Given the description of an element on the screen output the (x, y) to click on. 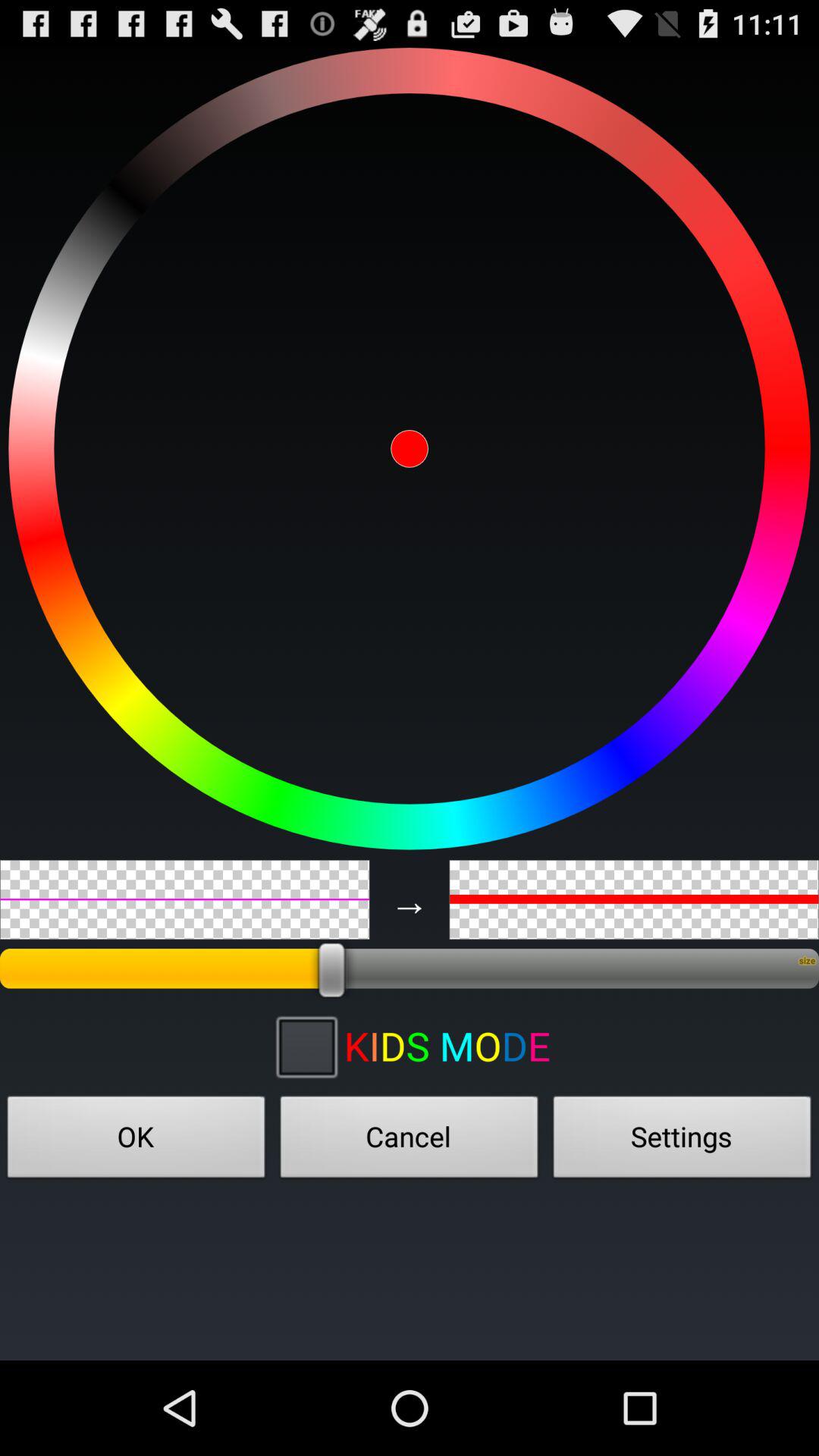
turn off the settings at the bottom right corner (682, 1141)
